Given the description of an element on the screen output the (x, y) to click on. 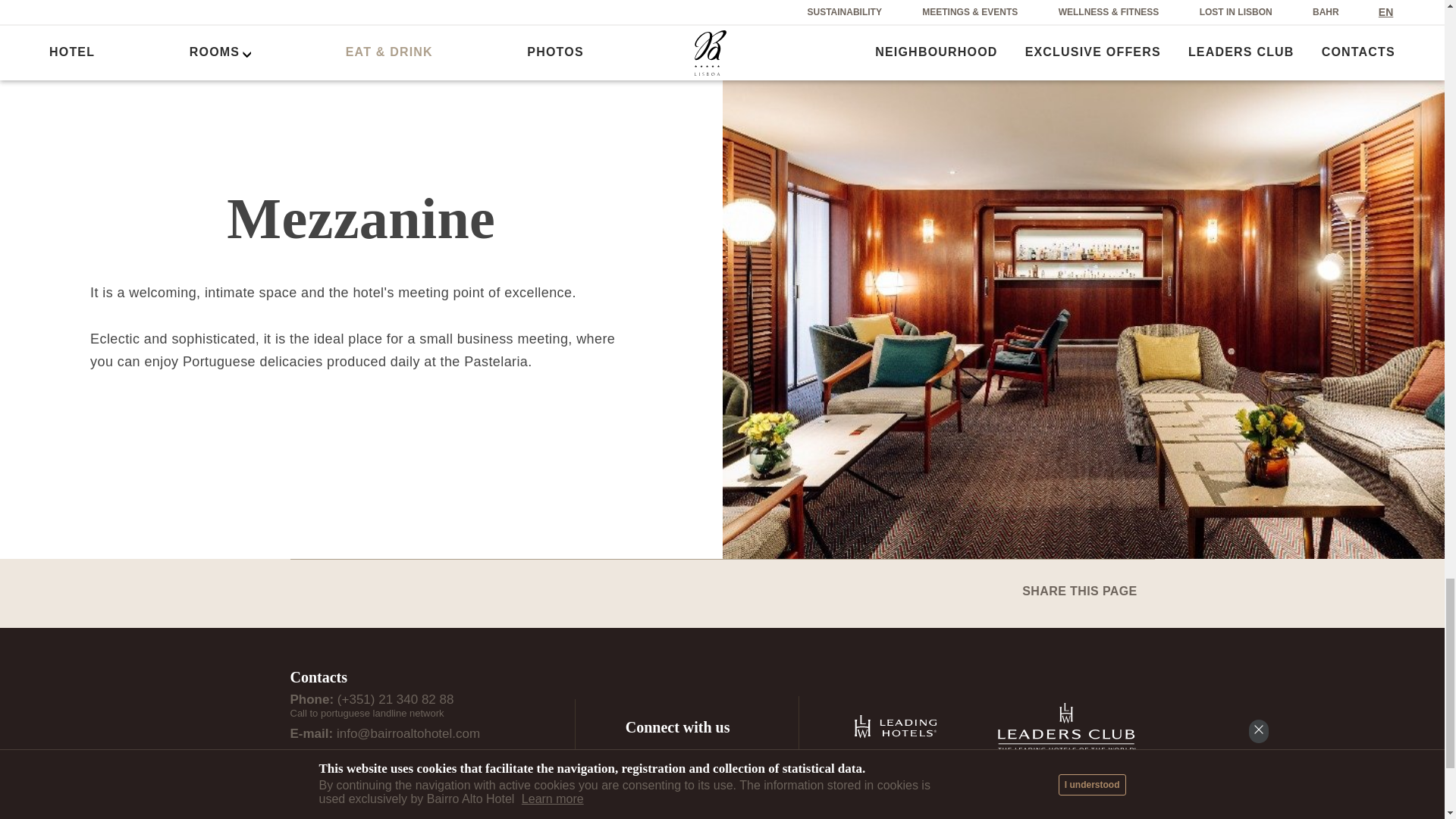
Instagram (669, 758)
Leading Hotels of the World (895, 726)
Facebook (634, 758)
Leaders Club (1066, 726)
signature travel network (979, 788)
Youtube (704, 758)
Virtuoso (1092, 788)
